Given the description of an element on the screen output the (x, y) to click on. 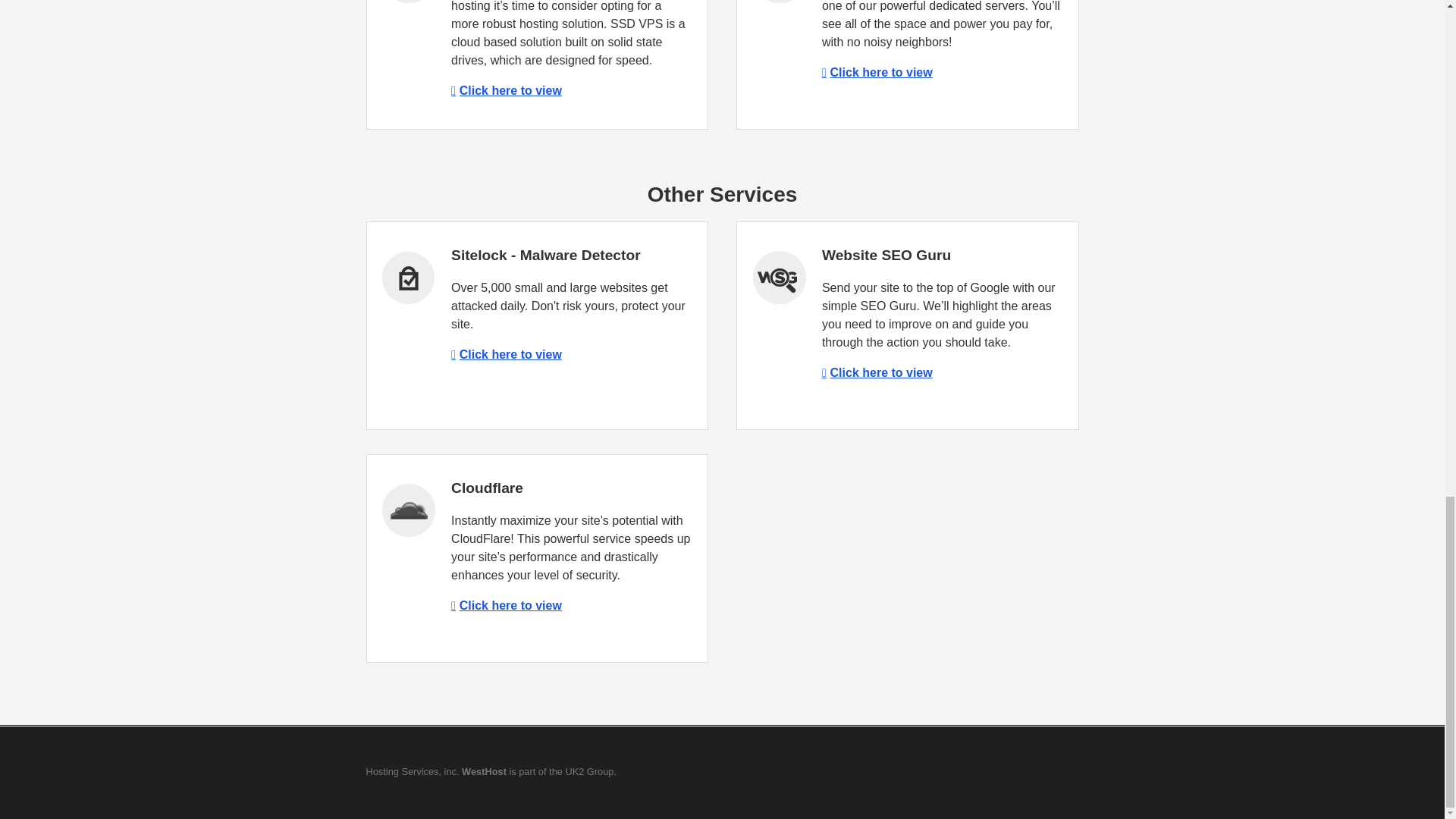
Click here to view (506, 354)
WestHost (483, 771)
Click here to view (877, 372)
Click here to view (506, 90)
Click here to view (877, 72)
Click here to view (506, 604)
